Given the description of an element on the screen output the (x, y) to click on. 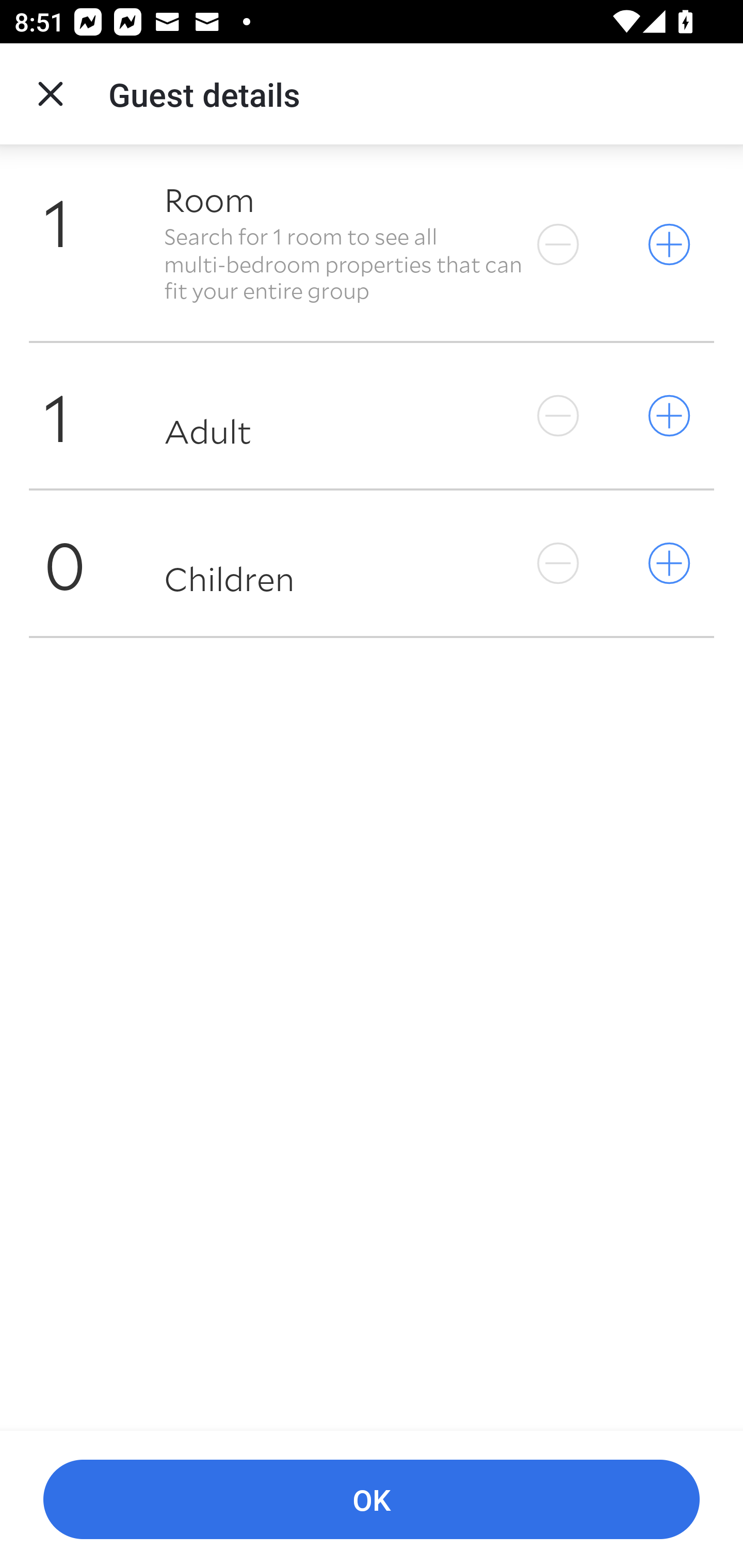
OK (371, 1499)
